Given the description of an element on the screen output the (x, y) to click on. 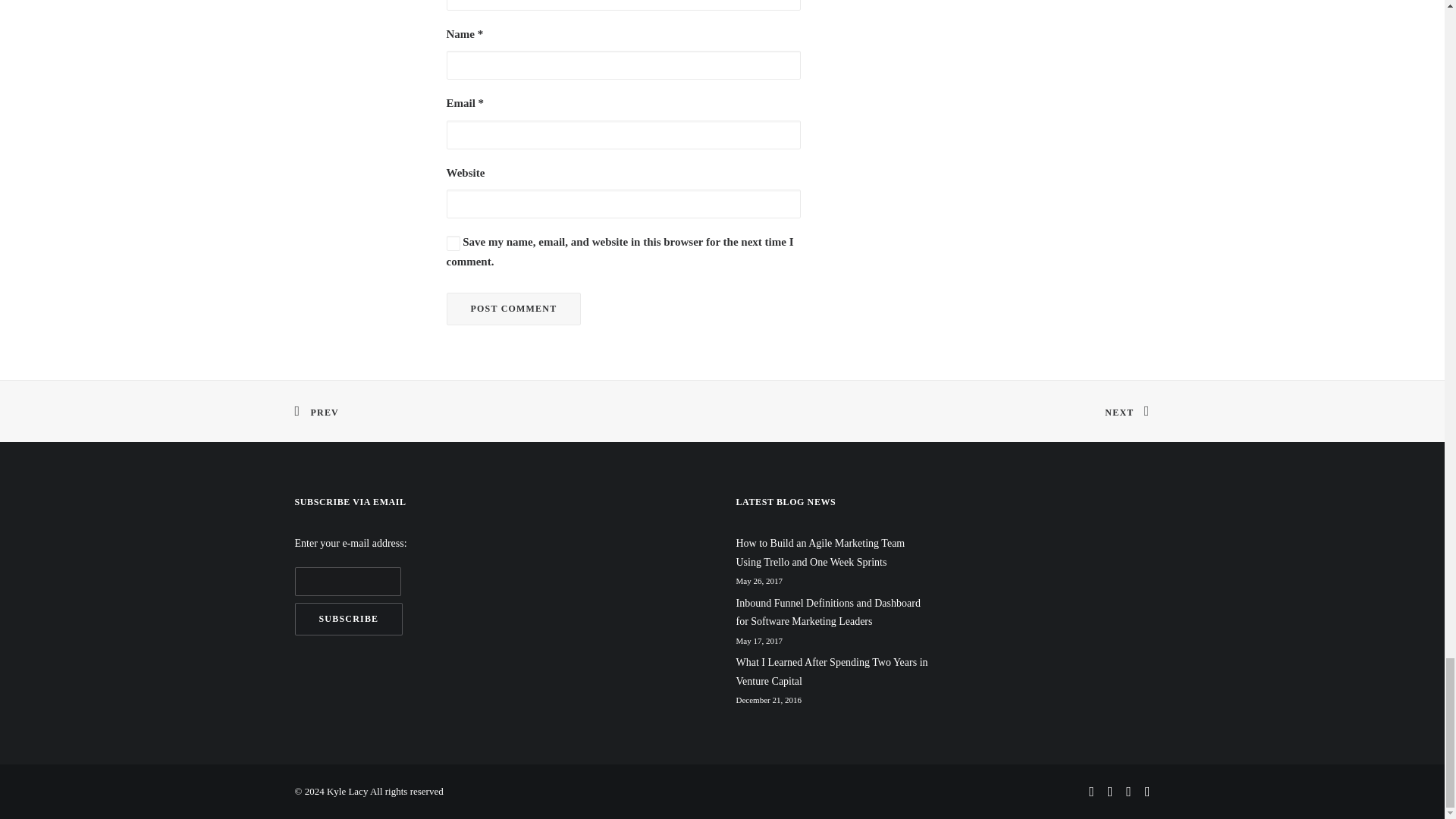
Post Comment (512, 308)
yes (452, 242)
Post Comment (512, 308)
Subscribe (348, 618)
